Given the description of an element on the screen output the (x, y) to click on. 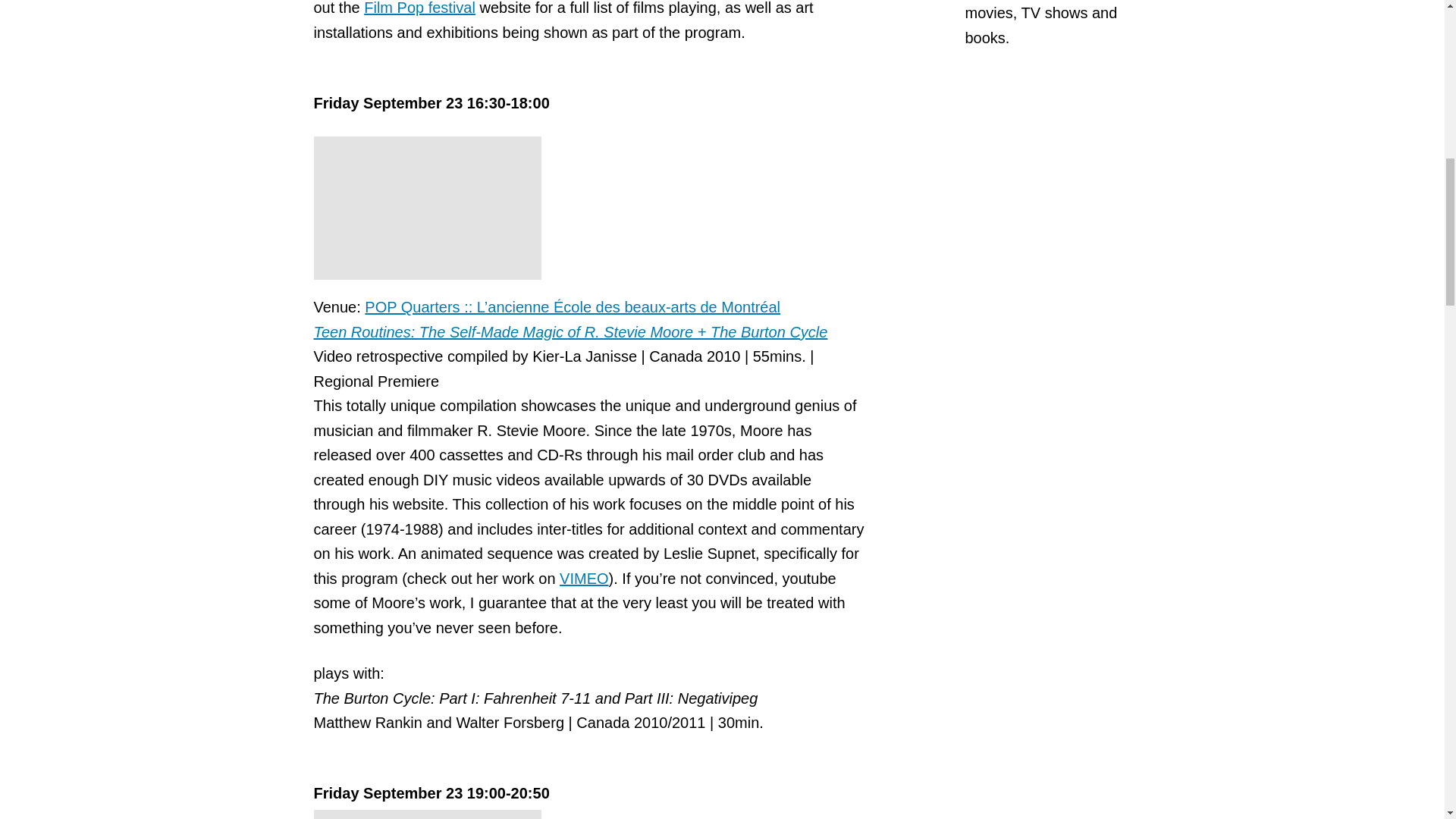
VIMEO (583, 578)
teenrou (427, 208)
Film Pop festival (420, 7)
